Given the description of an element on the screen output the (x, y) to click on. 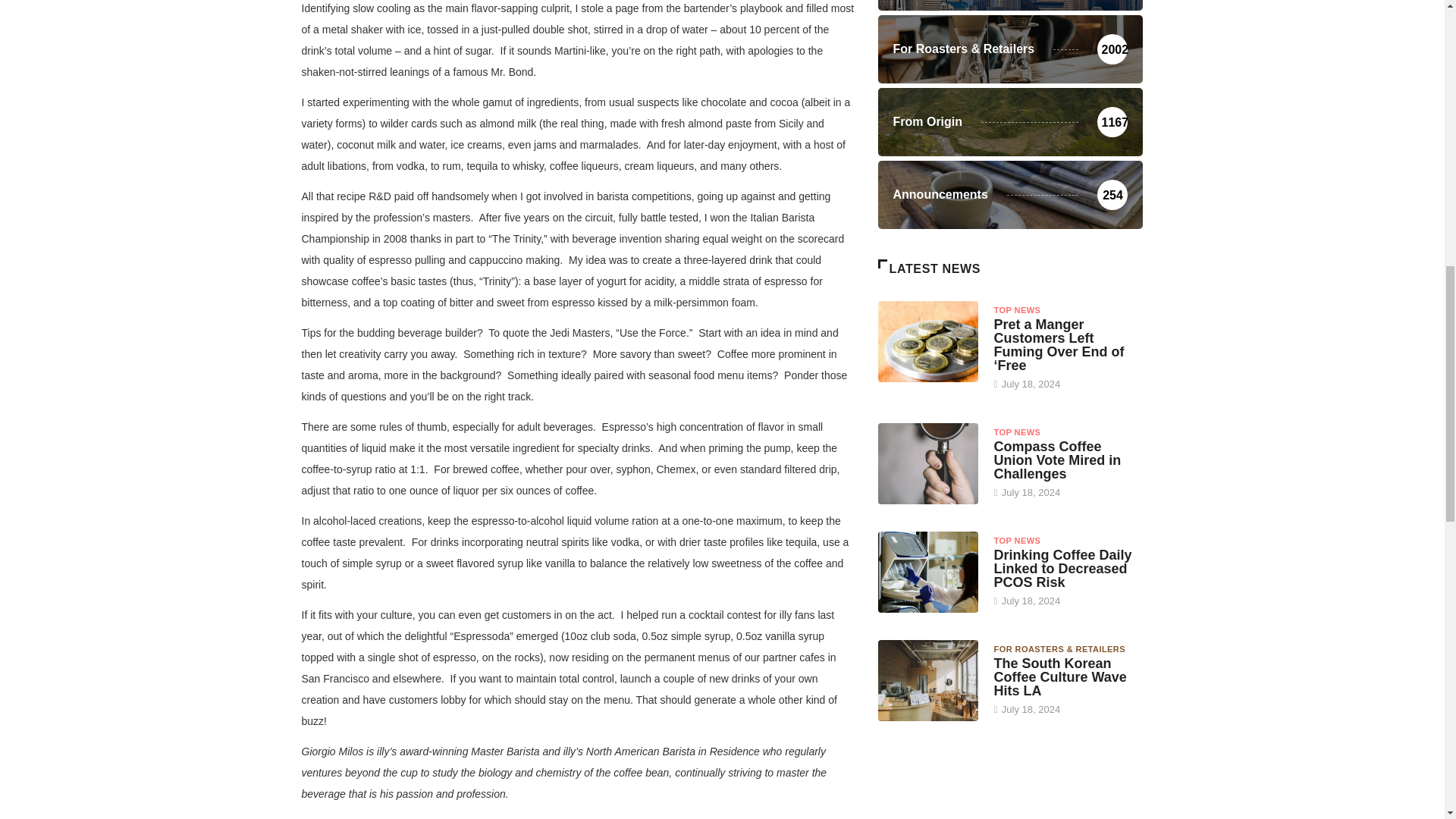
Drinking Coffee Daily Linked to Decreased PCOS Risk (1061, 568)
Compass Coffee Union Vote Mired in Challenges (927, 463)
The South Korean Coffee Culture Wave Hits LA (1058, 677)
Compass Coffee Union Vote Mired in Challenges (1056, 459)
Drinking Coffee Daily Linked to Decreased PCOS Risk (927, 571)
The South Korean Coffee Culture Wave Hits LA (927, 679)
